Given the description of an element on the screen output the (x, y) to click on. 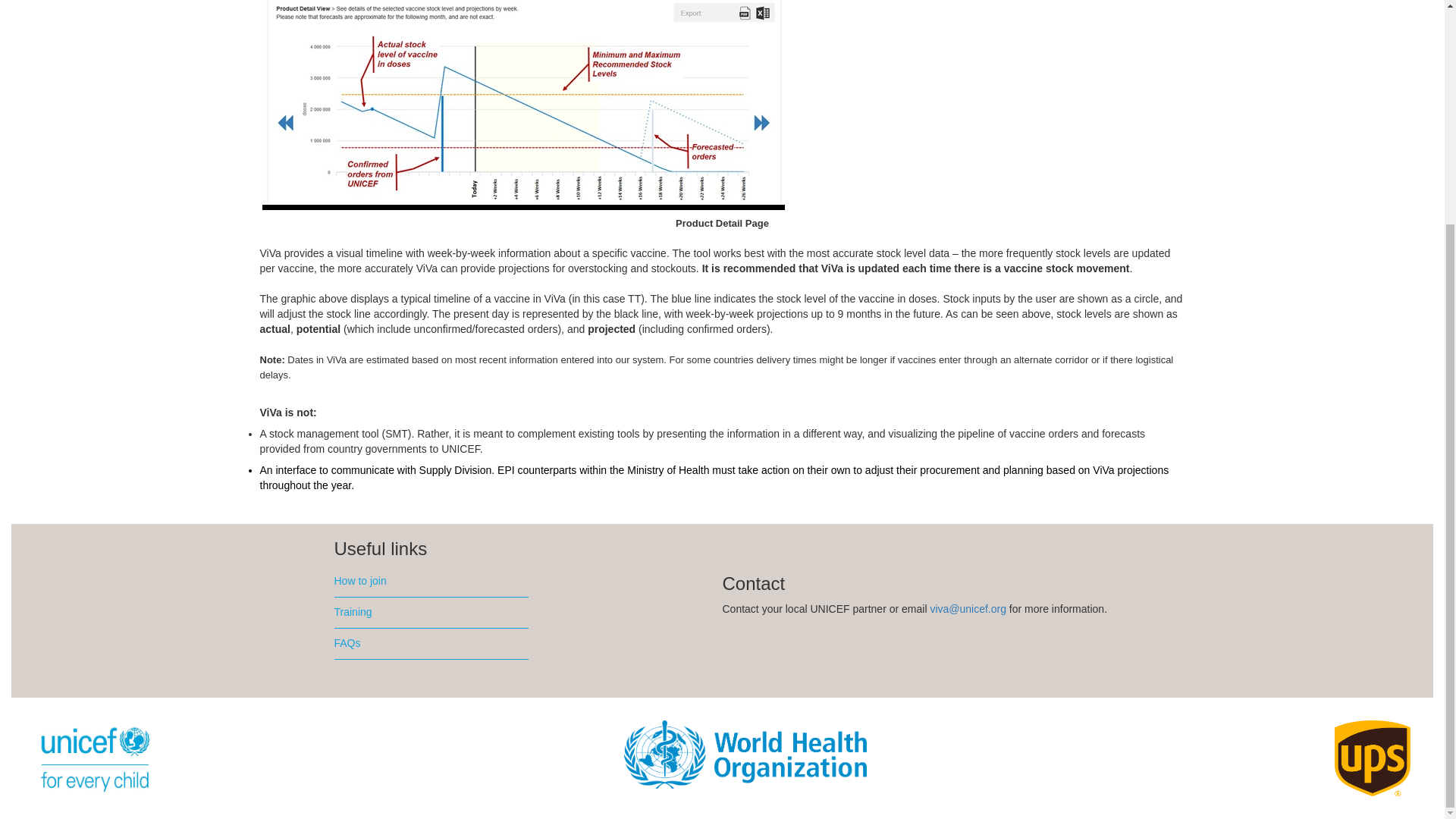
Training (430, 612)
How to join (430, 581)
FAQs (430, 644)
